Given the description of an element on the screen output the (x, y) to click on. 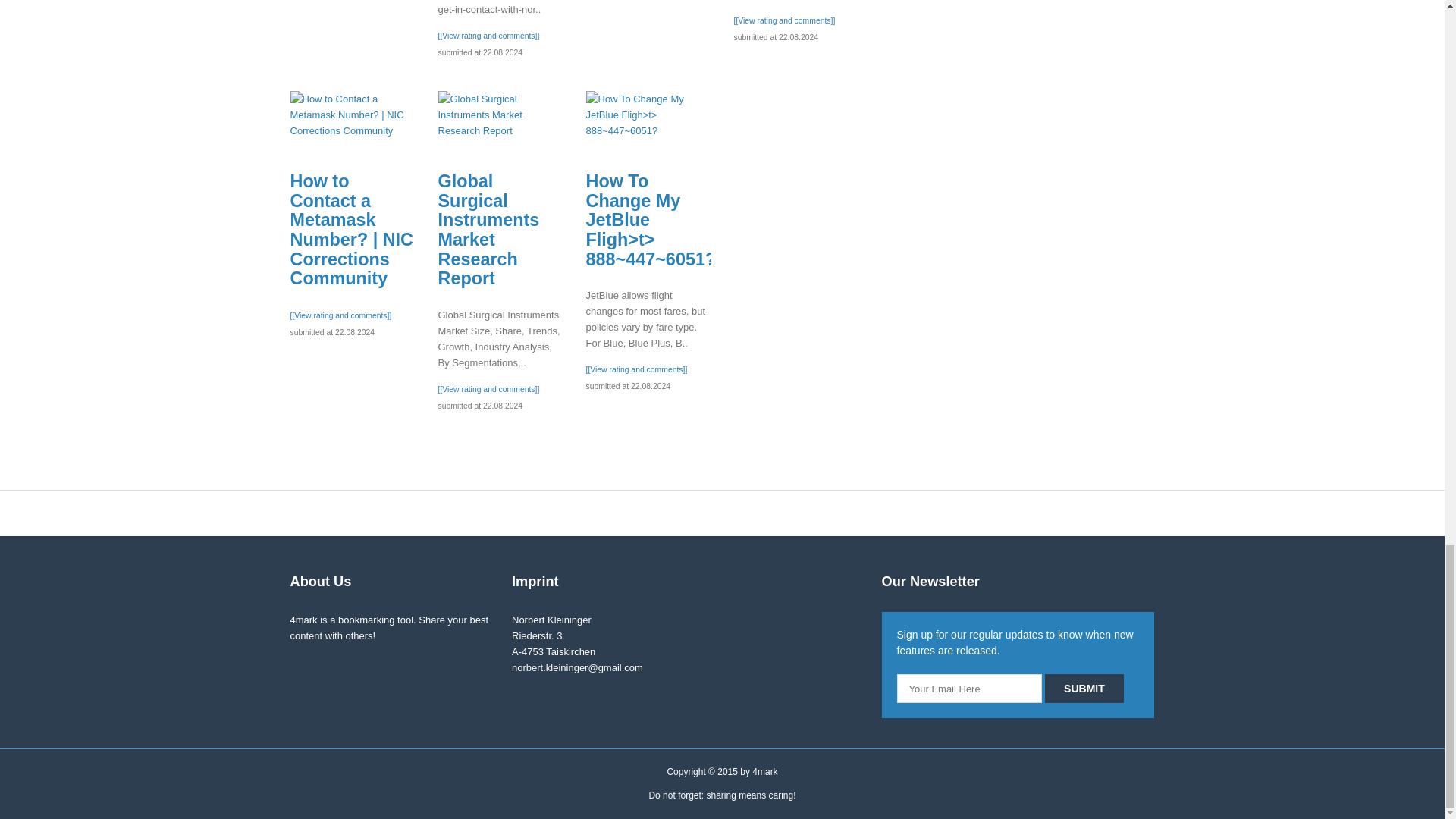
Email (969, 688)
Global Surgical Instruments Market Research Report (500, 114)
Submit (1084, 688)
